Given the description of an element on the screen output the (x, y) to click on. 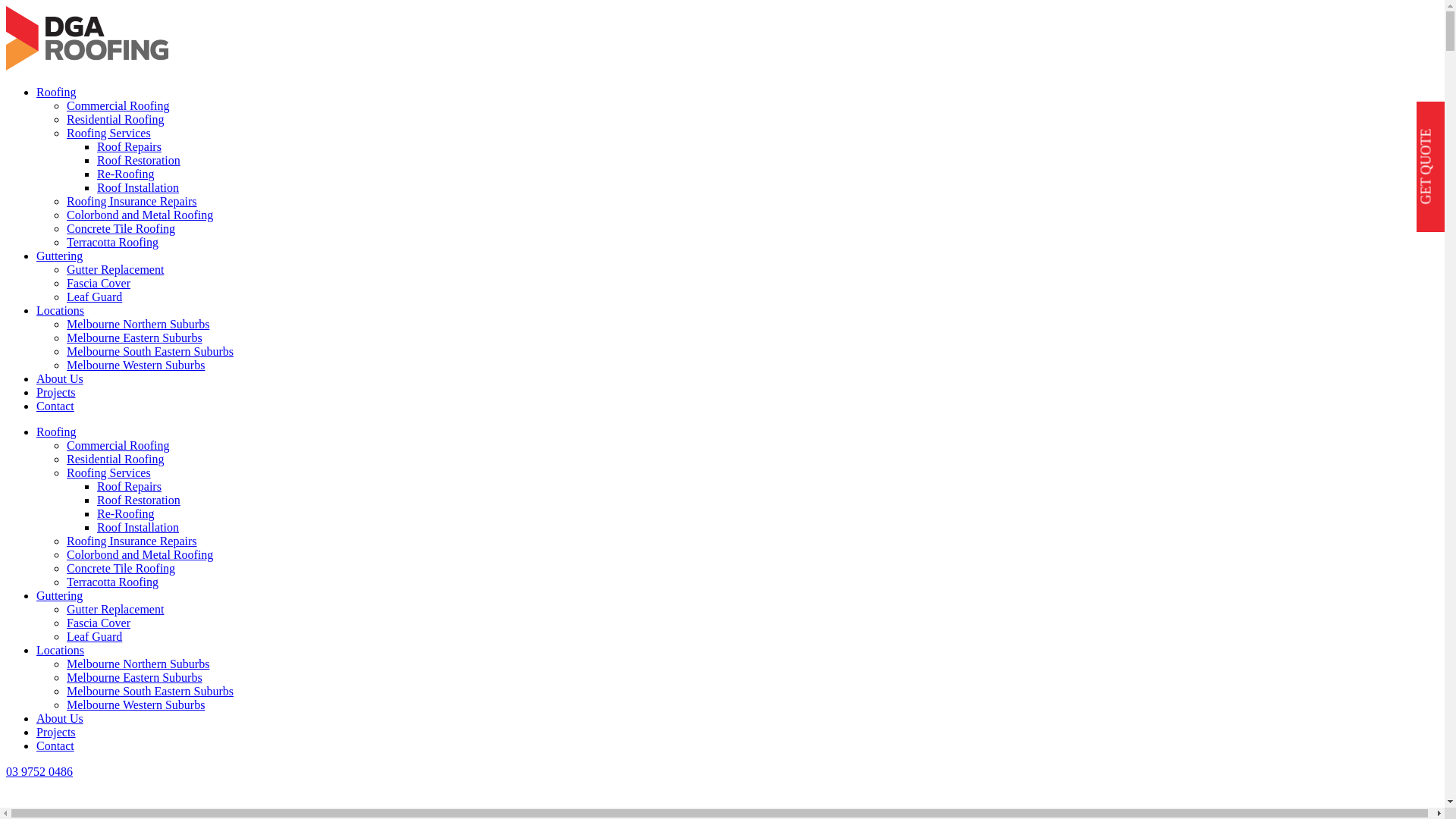
Melbourne Northern Suburbs Element type: text (137, 323)
Leaf Guard Element type: text (94, 636)
Roof Restoration Element type: text (138, 159)
Re-Roofing Element type: text (125, 173)
Concrete Tile Roofing Element type: text (120, 228)
Melbourne South Eastern Suburbs Element type: text (149, 690)
Colorbond and Metal Roofing Element type: text (139, 214)
Concrete Tile Roofing Element type: text (120, 567)
Projects Element type: text (55, 731)
Melbourne Eastern Suburbs Element type: text (134, 337)
Roof Installation Element type: text (137, 187)
Melbourne Western Suburbs Element type: text (135, 364)
Projects Element type: text (55, 391)
Roofing Element type: text (55, 91)
Melbourne South Eastern Suburbs Element type: text (149, 351)
Melbourne Western Suburbs Element type: text (135, 704)
Roofing Insurance Repairs Element type: text (131, 540)
Melbourne Eastern Suburbs Element type: text (134, 677)
Roofing Element type: text (55, 431)
Terracotta Roofing Element type: text (112, 581)
03 9752 0486 Element type: text (39, 771)
Gutter Replacement Element type: text (114, 269)
Re-Roofing Element type: text (125, 513)
Roofing Insurance Repairs Element type: text (131, 200)
Guttering Element type: text (59, 595)
Roof Restoration Element type: text (138, 499)
Leaf Guard Element type: text (94, 296)
Locations Element type: text (60, 310)
Roofing Services Element type: text (108, 132)
Terracotta Roofing Element type: text (112, 241)
About Us Element type: text (59, 718)
Commercial Roofing Element type: text (117, 105)
Fascia Cover Element type: text (98, 622)
Melbourne Northern Suburbs Element type: text (137, 663)
About Us Element type: text (59, 378)
Residential Roofing Element type: text (114, 118)
Locations Element type: text (60, 649)
Contact Element type: text (55, 745)
Fascia Cover Element type: text (98, 282)
Contact Element type: text (55, 405)
Commercial Roofing Element type: text (117, 445)
Roof Installation Element type: text (137, 526)
Colorbond and Metal Roofing Element type: text (139, 554)
Roof Repairs Element type: text (129, 146)
Guttering Element type: text (59, 255)
Gutter Replacement Element type: text (114, 608)
Roofing Services Element type: text (108, 472)
Residential Roofing Element type: text (114, 458)
Roof Repairs Element type: text (129, 486)
